Given the description of an element on the screen output the (x, y) to click on. 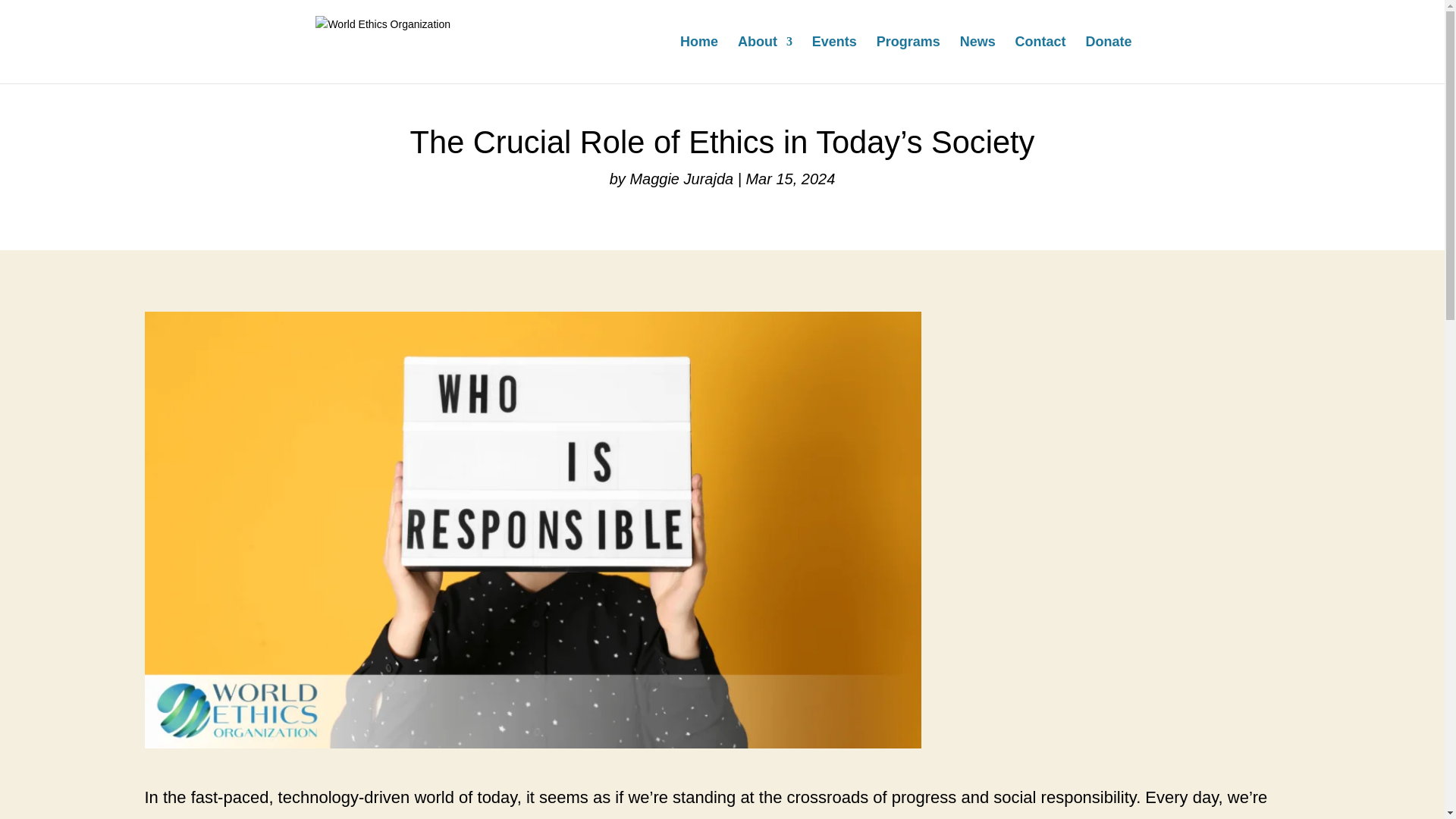
Donate (1107, 59)
Posts by Maggie Jurajda (680, 178)
About (765, 59)
Contact (1039, 59)
Events (834, 59)
Programs (908, 59)
Maggie Jurajda (680, 178)
